Given the description of an element on the screen output the (x, y) to click on. 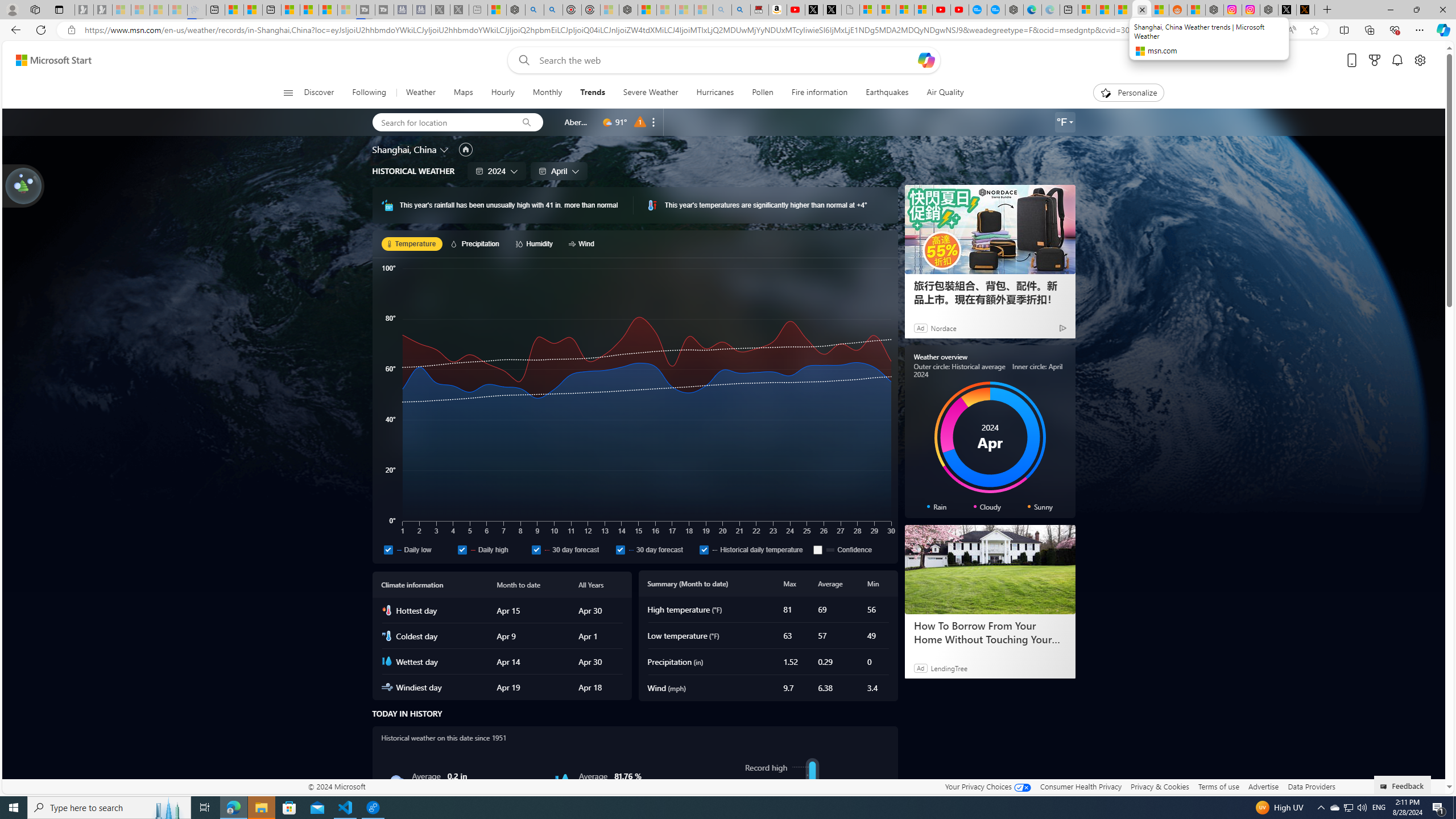
Shanghai, China Weather trends | Microsoft Weather (1159, 9)
Skip to footer (46, 59)
Trends (592, 92)
Privacy & Cookies (1160, 785)
30 day forecast (655, 549)
Monthly (547, 92)
Untitled (850, 9)
Historical daily temperature (753, 549)
Daily low (417, 549)
Daily high (462, 549)
